Given the description of an element on the screen output the (x, y) to click on. 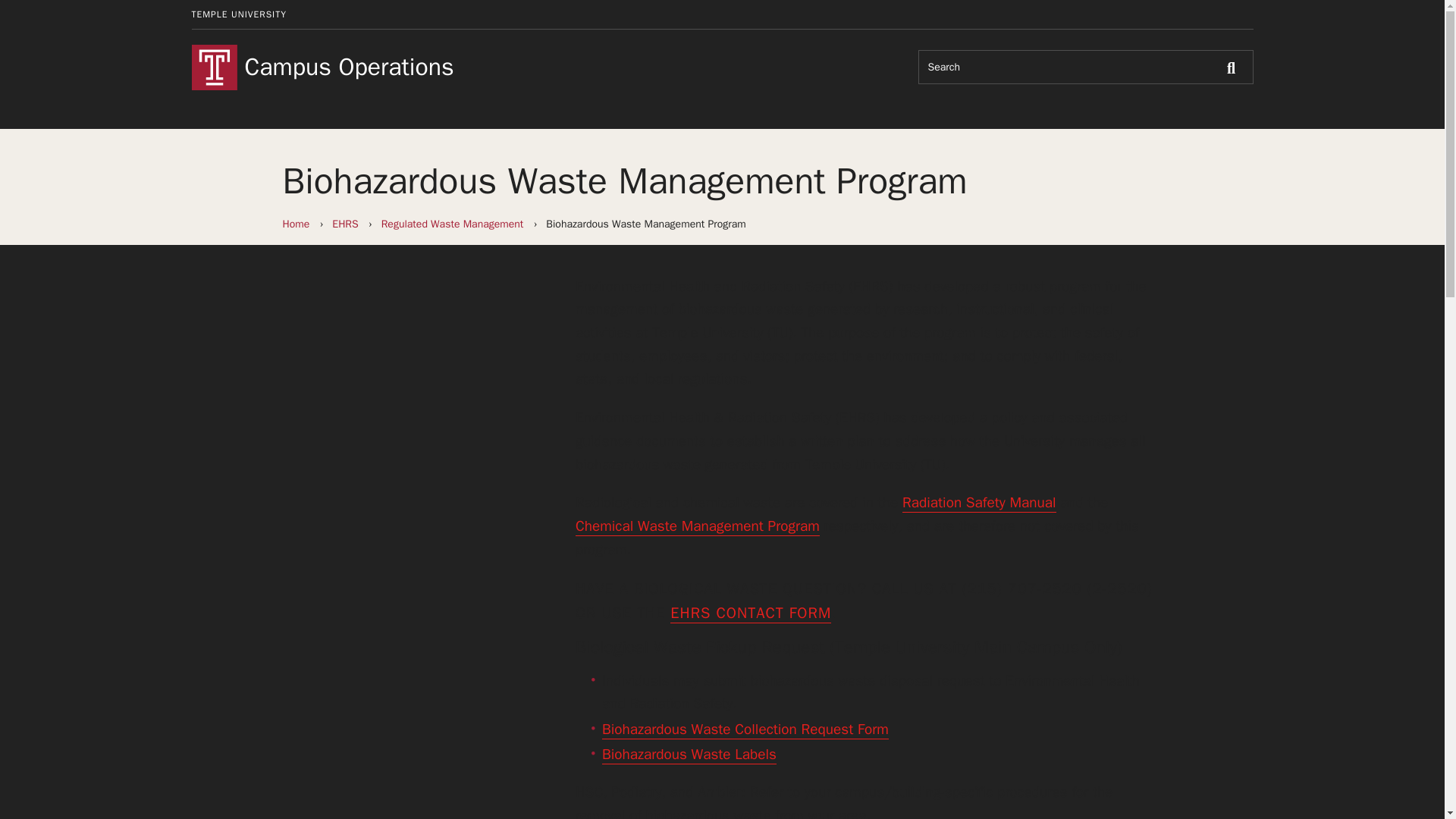
Search (1235, 67)
TEMPLE UNIVERSITY (237, 14)
Search (1235, 67)
Campus Operations (452, 66)
Search (1235, 67)
